Given the description of an element on the screen output the (x, y) to click on. 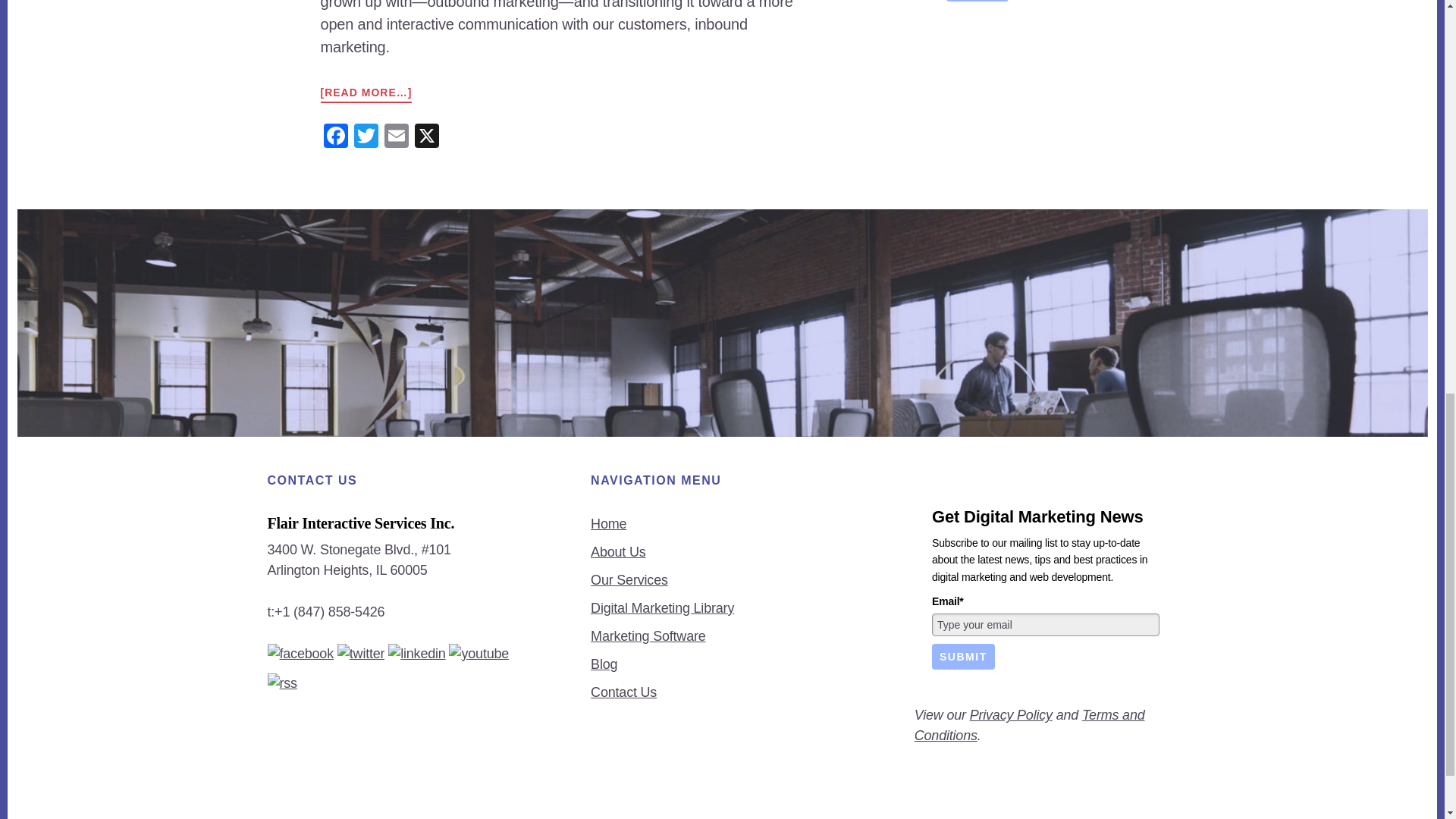
X (425, 137)
Email (395, 137)
X (425, 137)
Email (395, 137)
Twitter (365, 137)
Facebook (335, 137)
SUBMIT (977, 0)
Twitter (365, 137)
Facebook (335, 137)
